Given the description of an element on the screen output the (x, y) to click on. 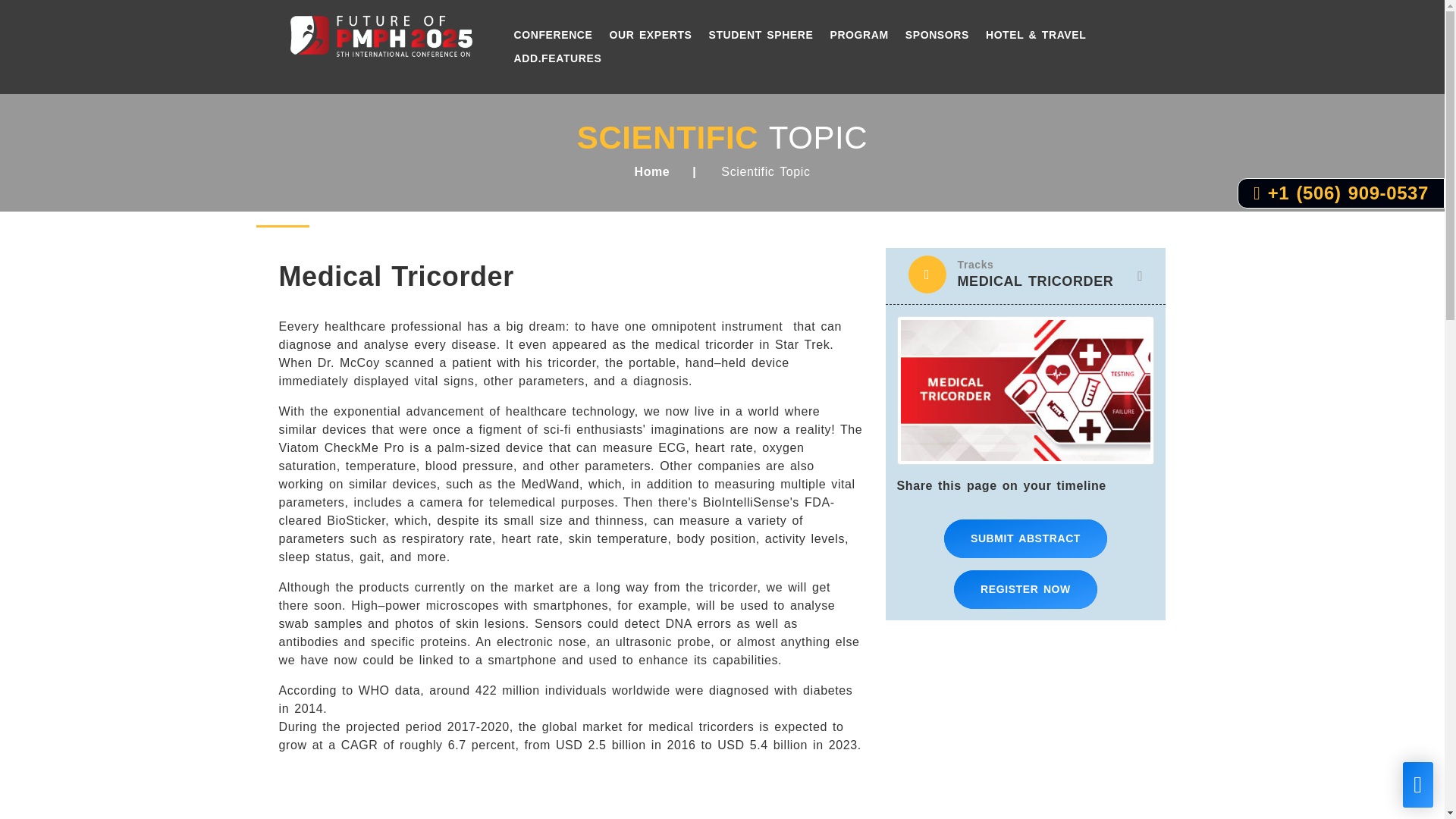
ADD.FEATURES (558, 58)
CONFERENCE (552, 34)
OUR EXPERTS (651, 34)
PROGRAM (858, 34)
SPONSORS (937, 34)
STUDENT SPHERE (760, 34)
